Given the description of an element on the screen output the (x, y) to click on. 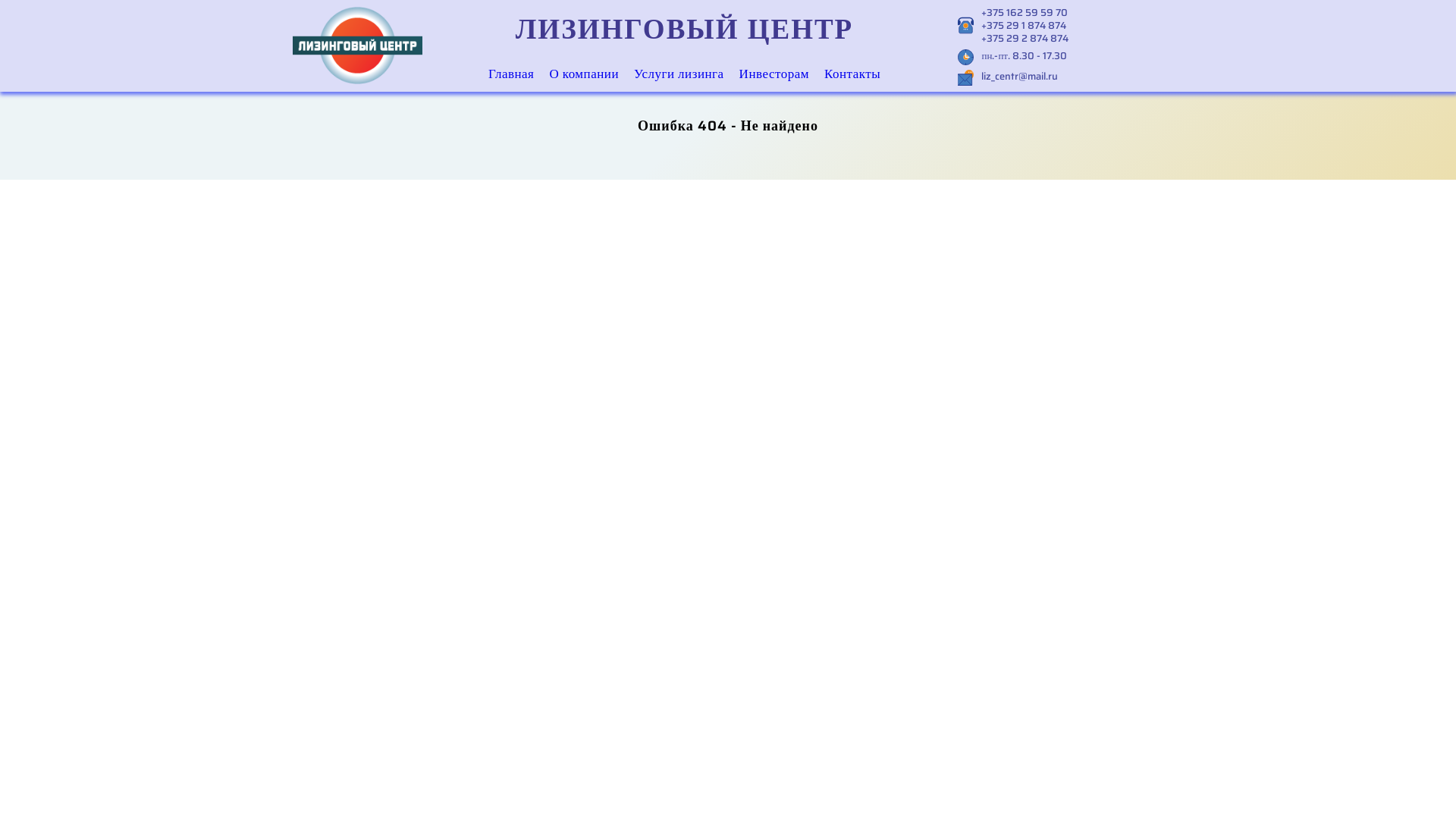
+375 162 59 59 70 Element type: text (1024, 12)
+375 29 2 874 874 Element type: text (1024, 37)
+375 29 1 874 874 Element type: text (1024, 24)
liz_centr@mail.ru Element type: text (1019, 75)
